Given the description of an element on the screen output the (x, y) to click on. 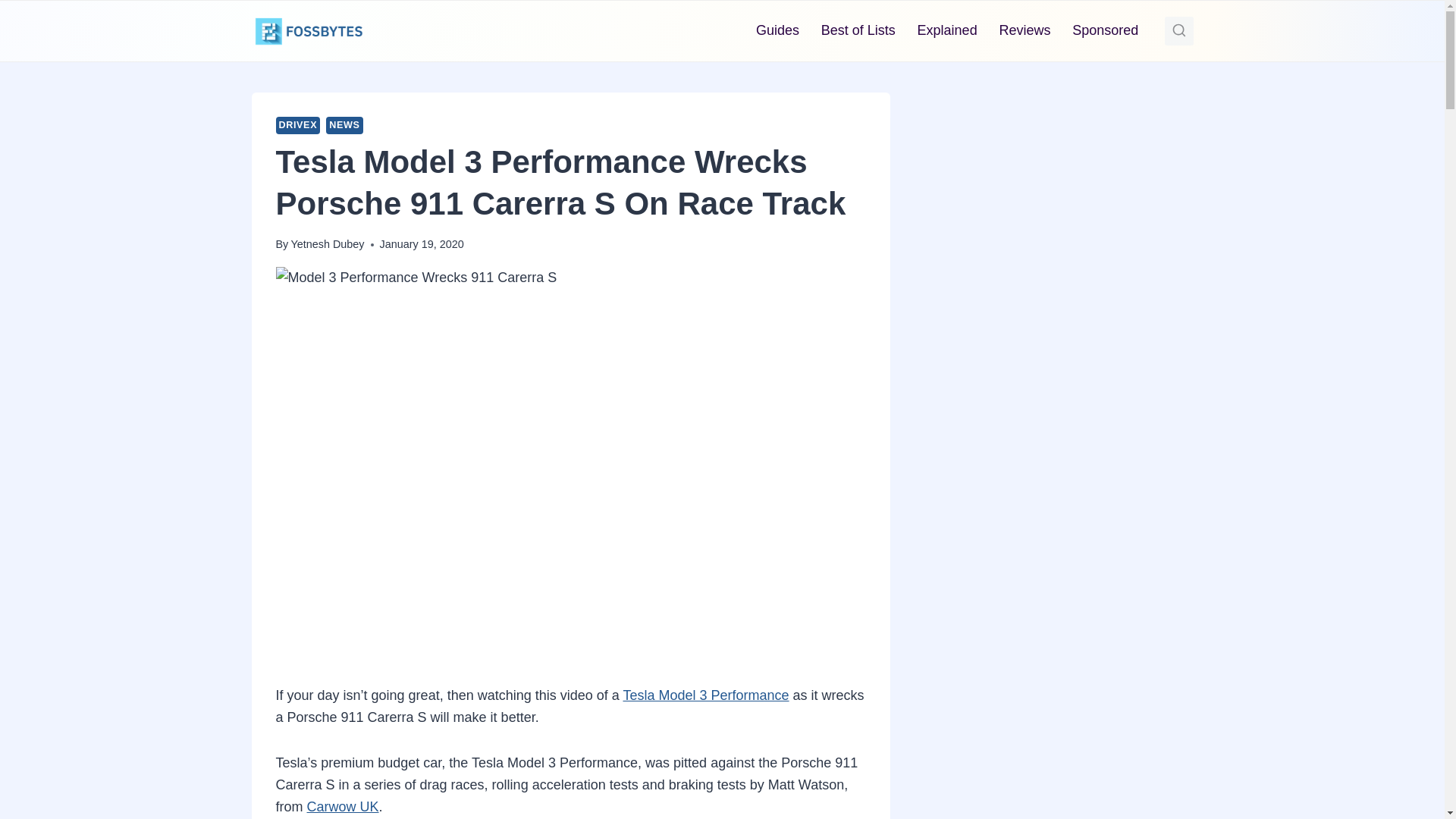
Reviews (1024, 30)
Explained (946, 30)
Carwow UK (342, 806)
Sponsored (1105, 30)
NEWS (344, 125)
DRIVEX (298, 125)
Tesla Model 3 Performance (706, 694)
Best of Lists (857, 30)
Yetnesh Dubey (326, 244)
